Given the description of an element on the screen output the (x, y) to click on. 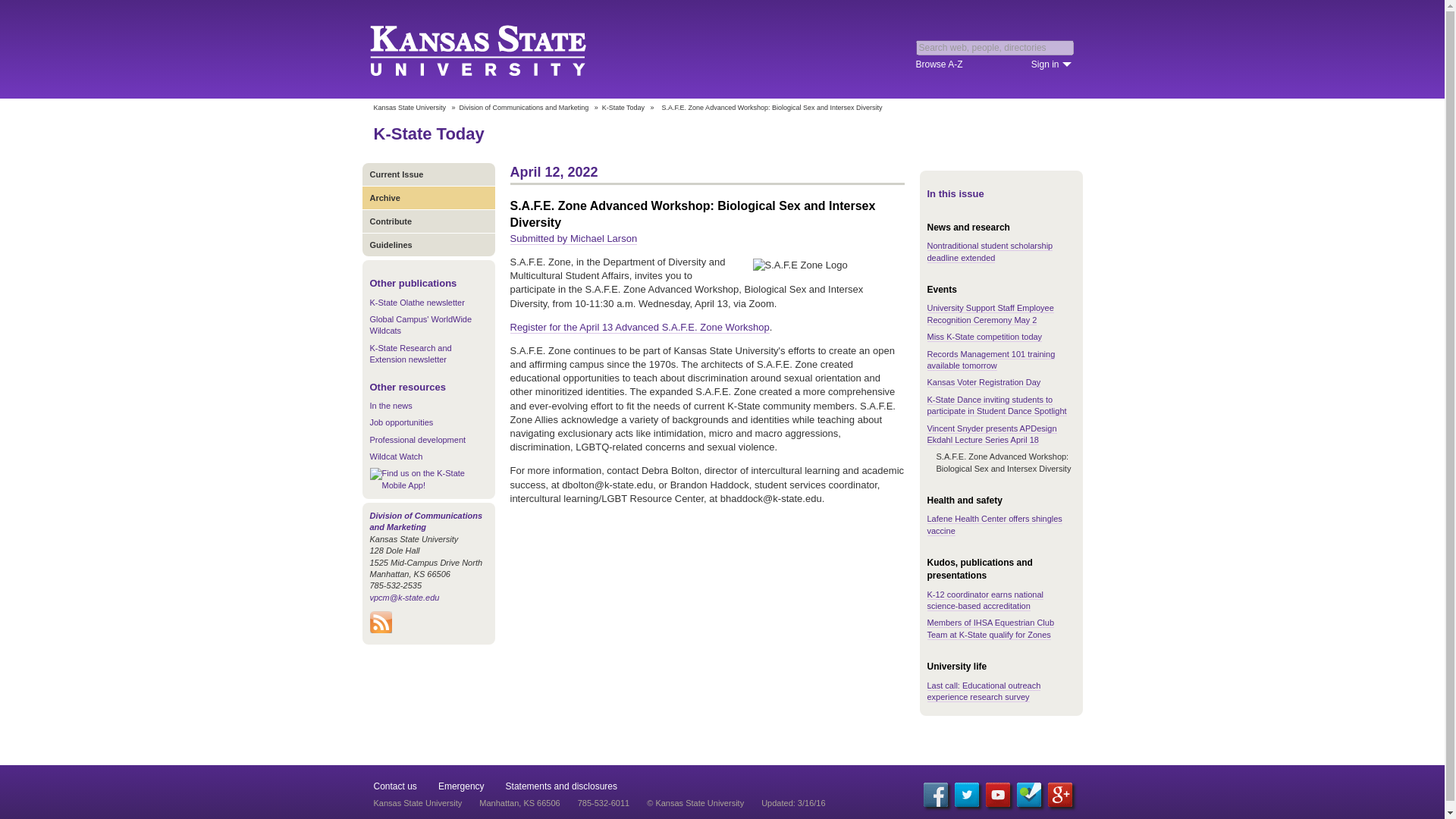
Current Issue (428, 173)
Foursquare (1028, 794)
Nontraditional student scholarship deadline extended (989, 251)
S.A.F.E Zone Logo (828, 264)
In the news (390, 405)
Subscribe to K-State Today RSS feeds (380, 629)
Guidelines (428, 244)
Kansas State University (496, 49)
